Given the description of an element on the screen output the (x, y) to click on. 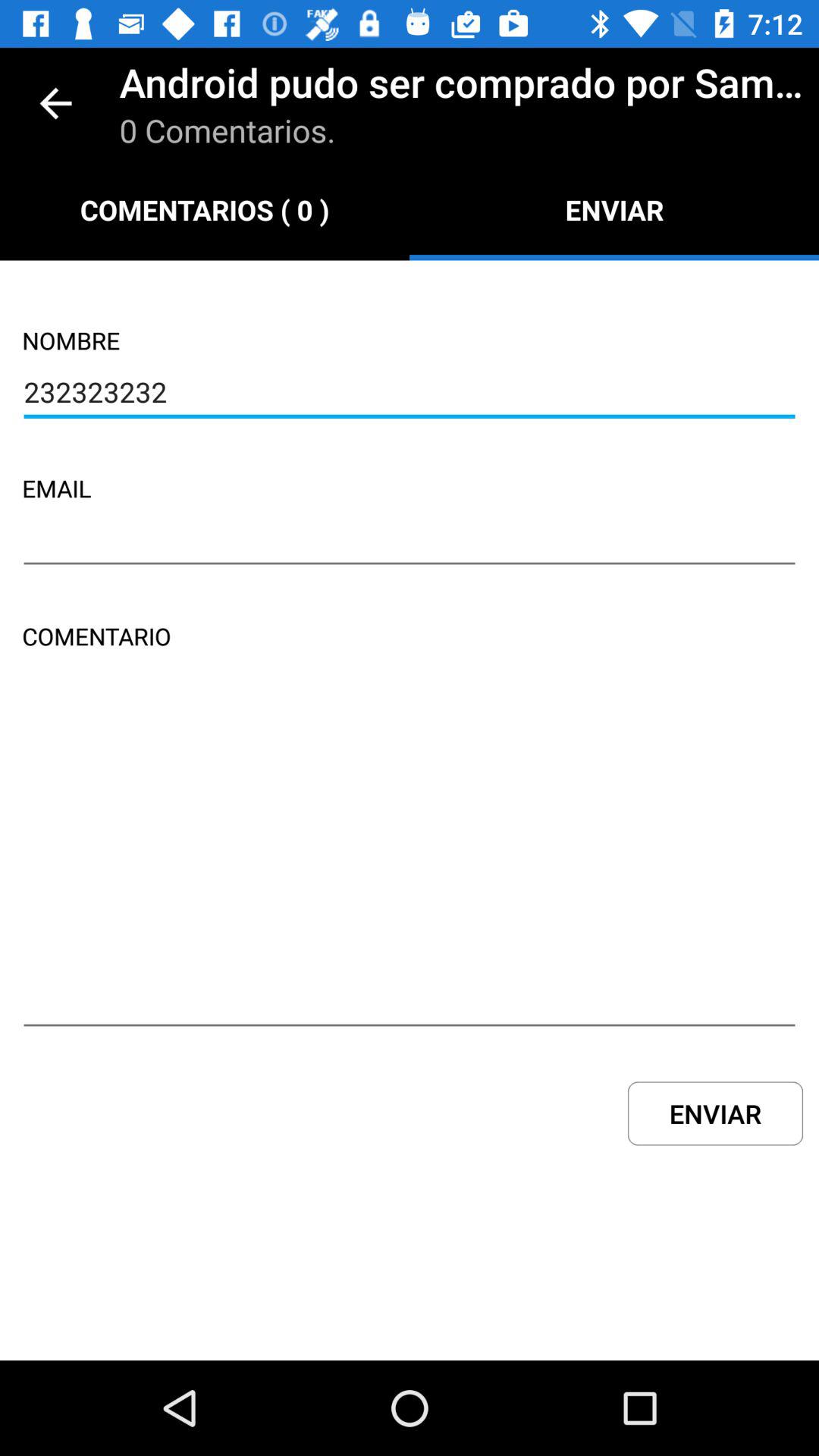
enter comments (409, 862)
